Given the description of an element on the screen output the (x, y) to click on. 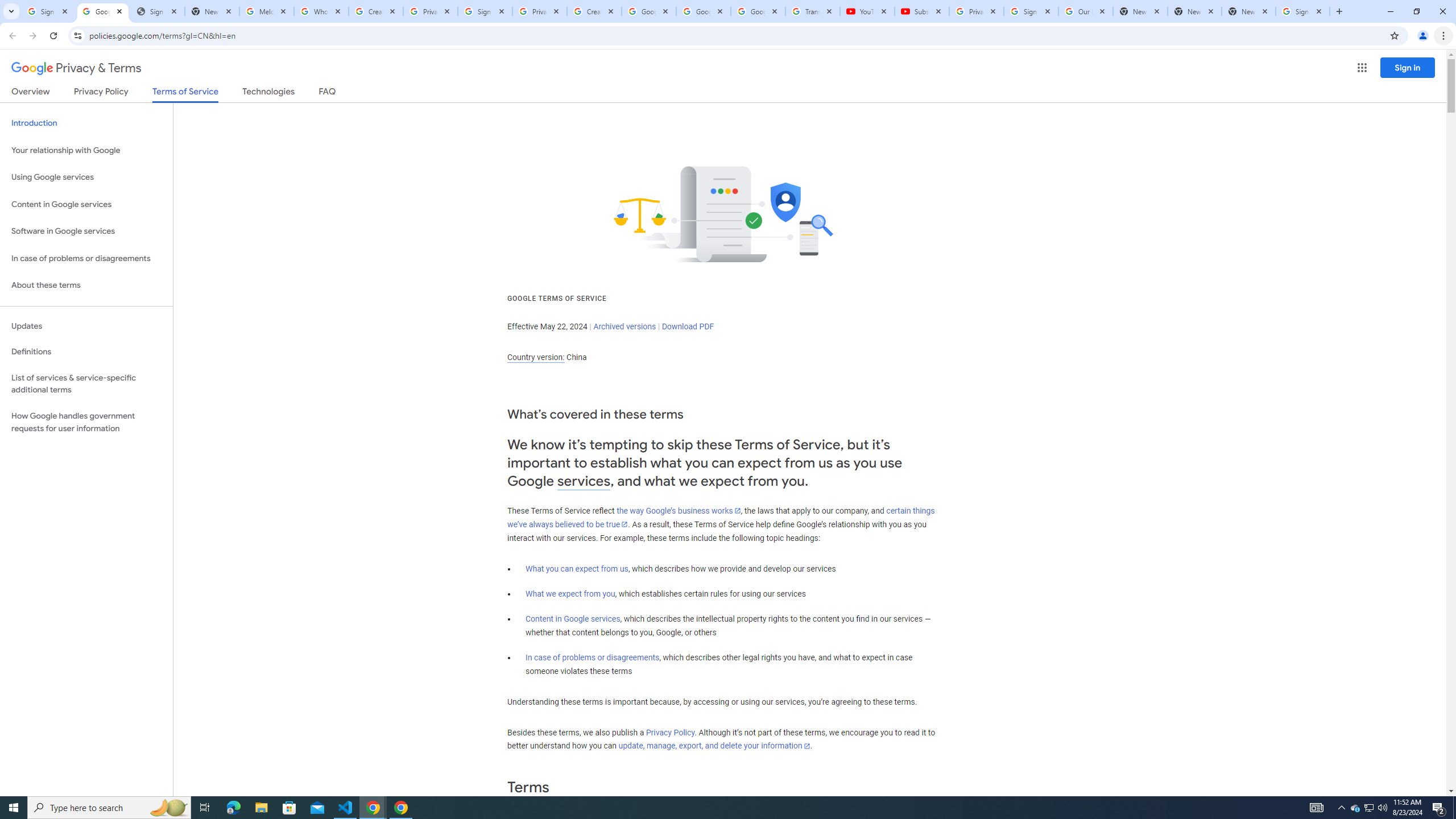
Software in Google services (86, 230)
List of services & service-specific additional terms (86, 383)
Create your Google Account (375, 11)
New Tab (1249, 11)
